Given the description of an element on the screen output the (x, y) to click on. 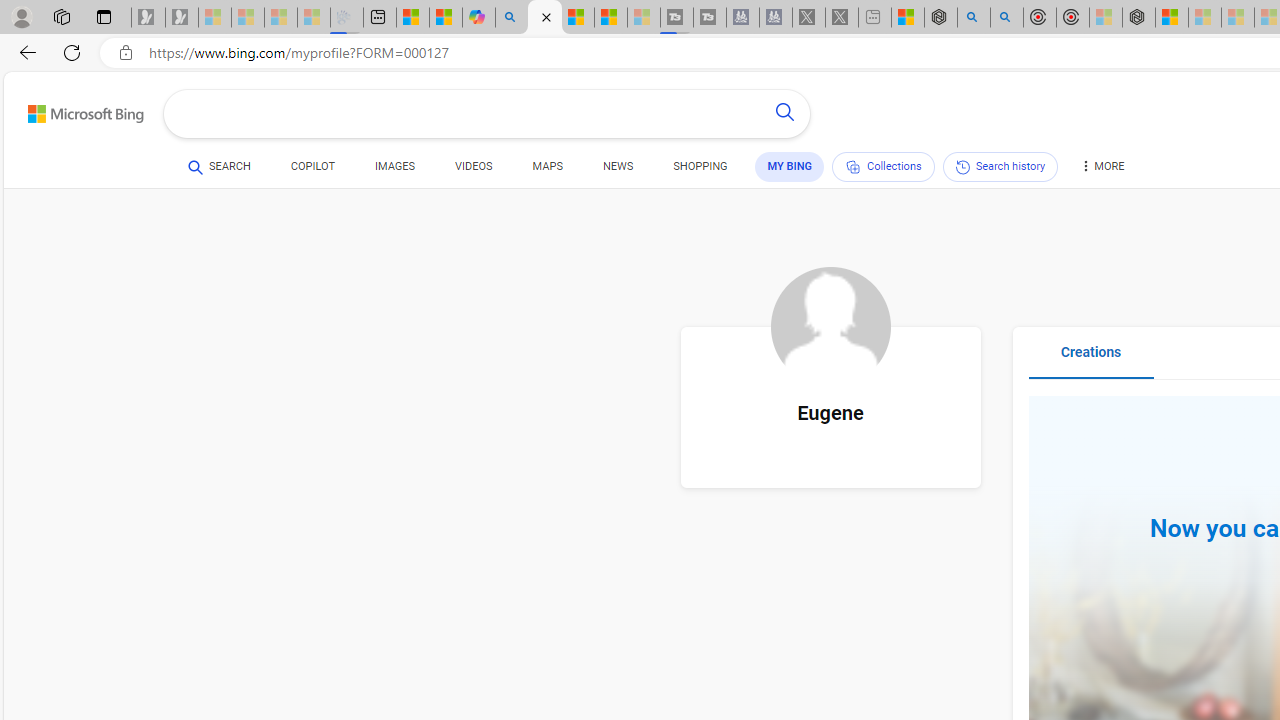
Newsletter Sign Up - Sleeping (182, 17)
IMAGES (394, 166)
Copilot with GPT-4 (479, 17)
SHOPPING (699, 166)
SHOPPING (699, 169)
MAPS (546, 169)
